Given the description of an element on the screen output the (x, y) to click on. 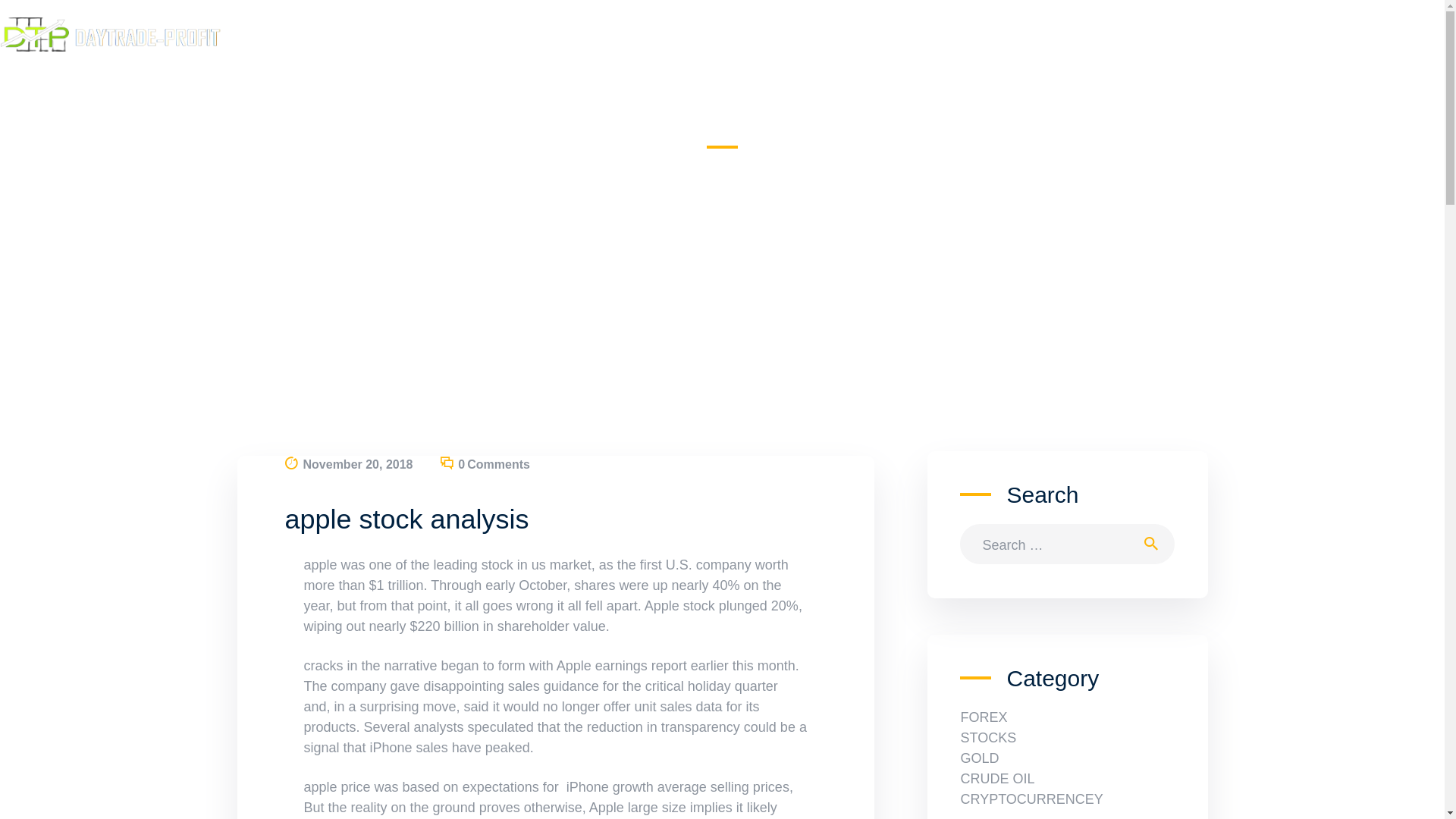
Search (1154, 544)
November 20, 2018 (357, 463)
ALL POSTS (600, 167)
Search (1154, 544)
HOME (547, 167)
